Given the description of an element on the screen output the (x, y) to click on. 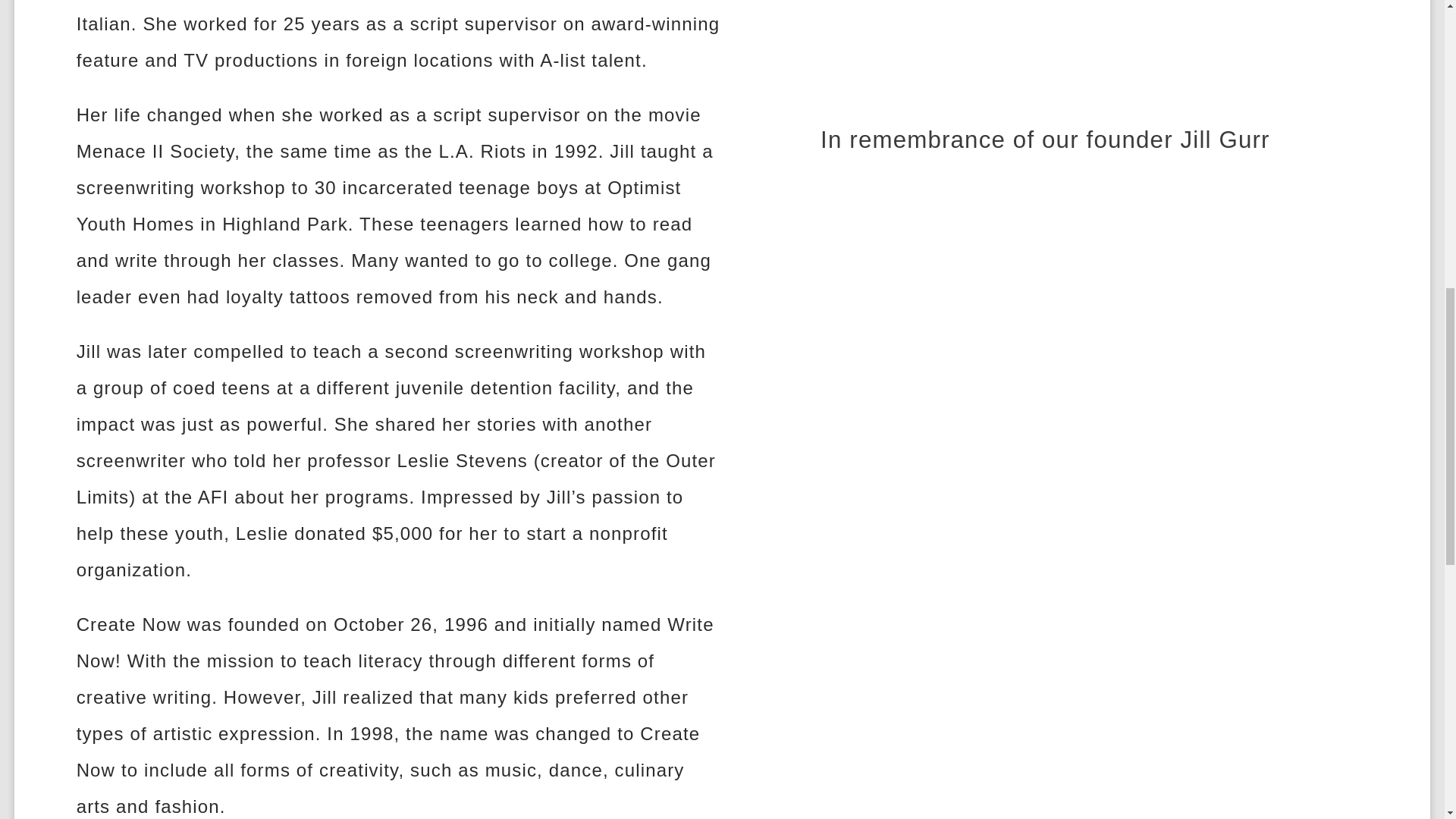
In Honor of Jill Gurr (1044, 52)
